Given the description of an element on the screen output the (x, y) to click on. 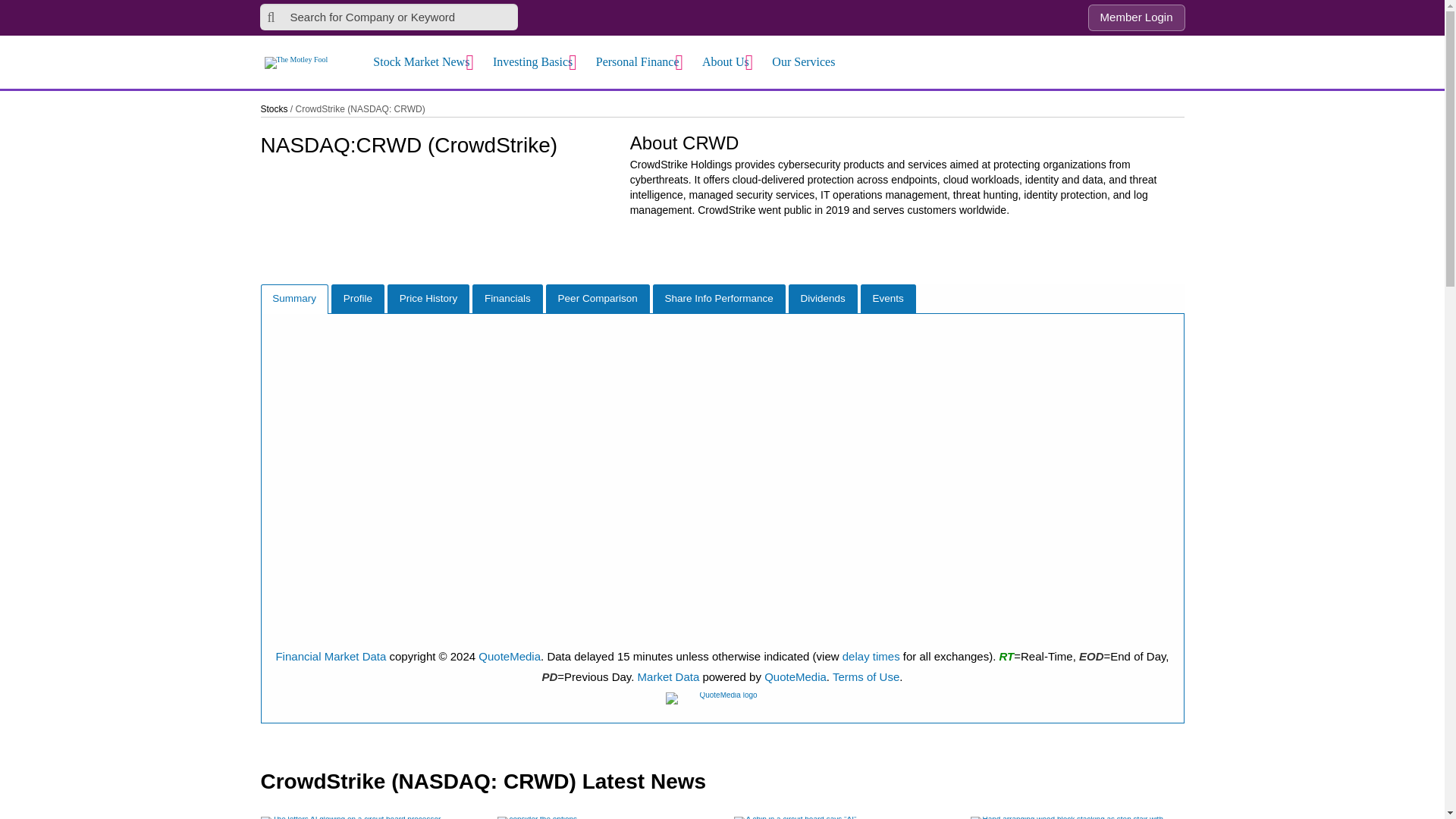
Stock Market News (425, 62)
Investing Basics (537, 62)
Member Login (1136, 17)
